Given the description of an element on the screen output the (x, y) to click on. 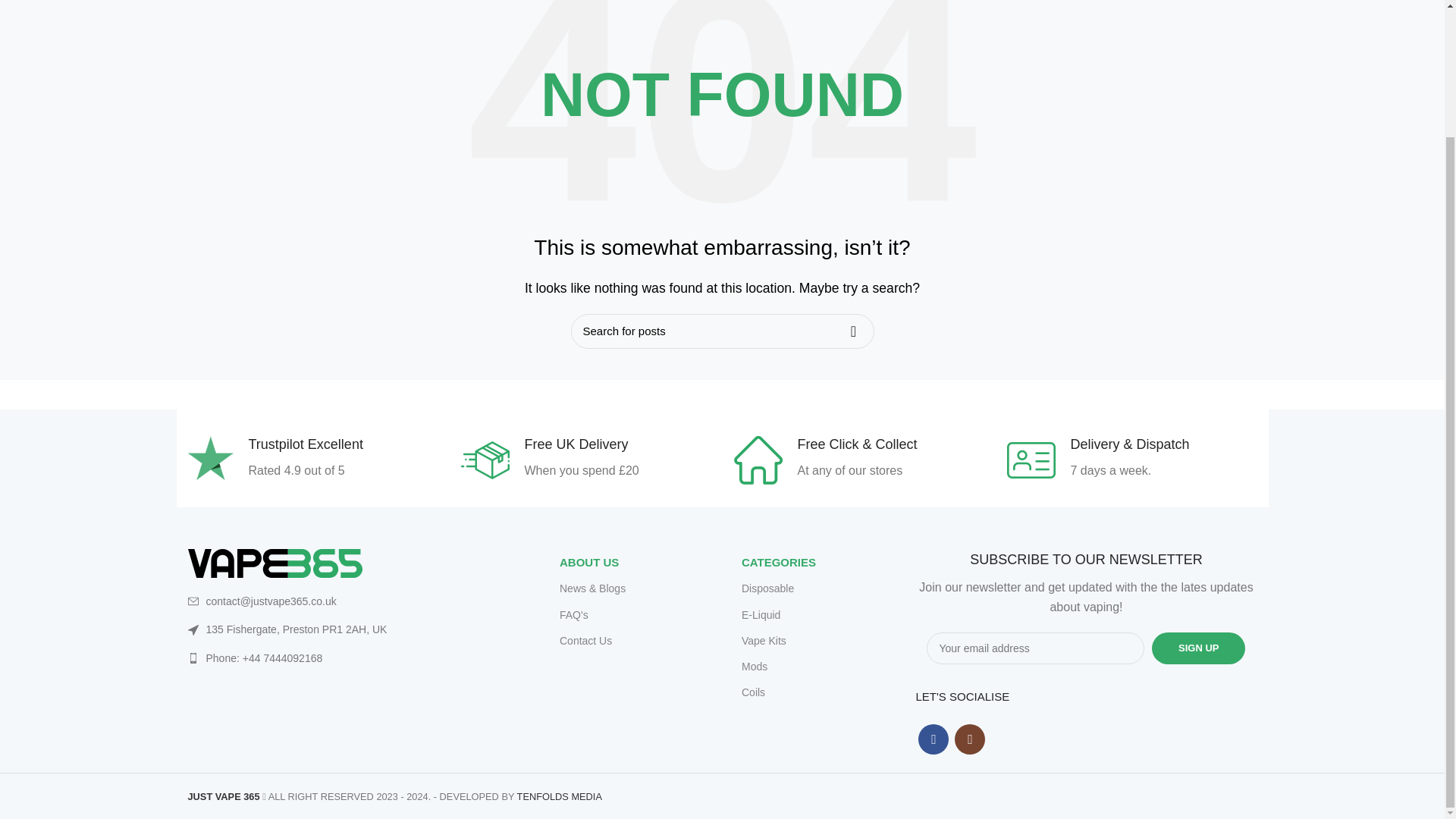
Sign up (1197, 648)
